Given the description of an element on the screen output the (x, y) to click on. 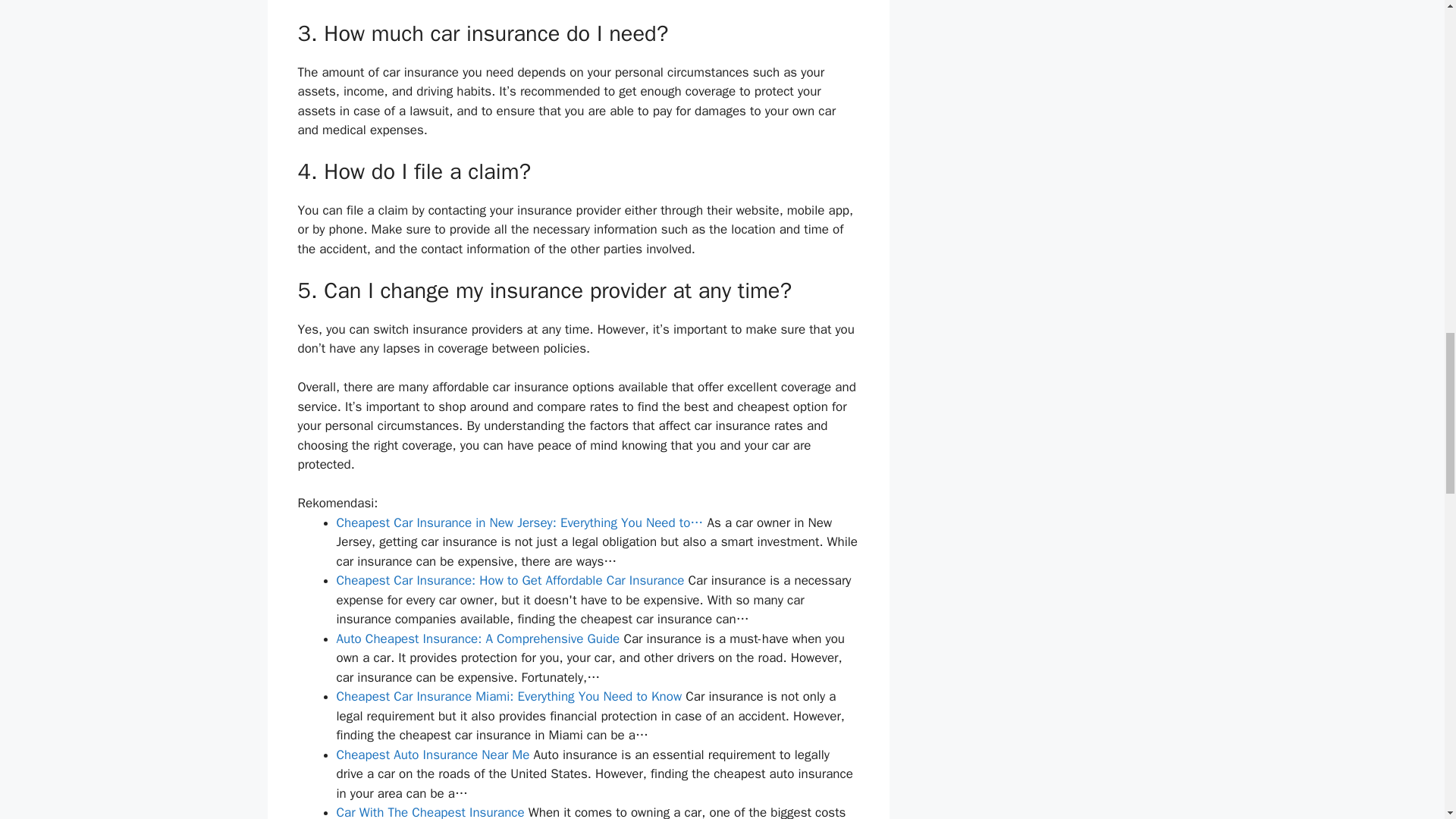
Cheapest Car Insurance: How to Get Affordable Car Insurance (510, 580)
Car With The Cheapest Insurance (430, 811)
Auto Cheapest Insurance: A Comprehensive Guide (478, 638)
Cheapest Auto Insurance Near Me (432, 754)
Cheapest Car Insurance Miami: Everything You Need to Know (509, 696)
